Given the description of an element on the screen output the (x, y) to click on. 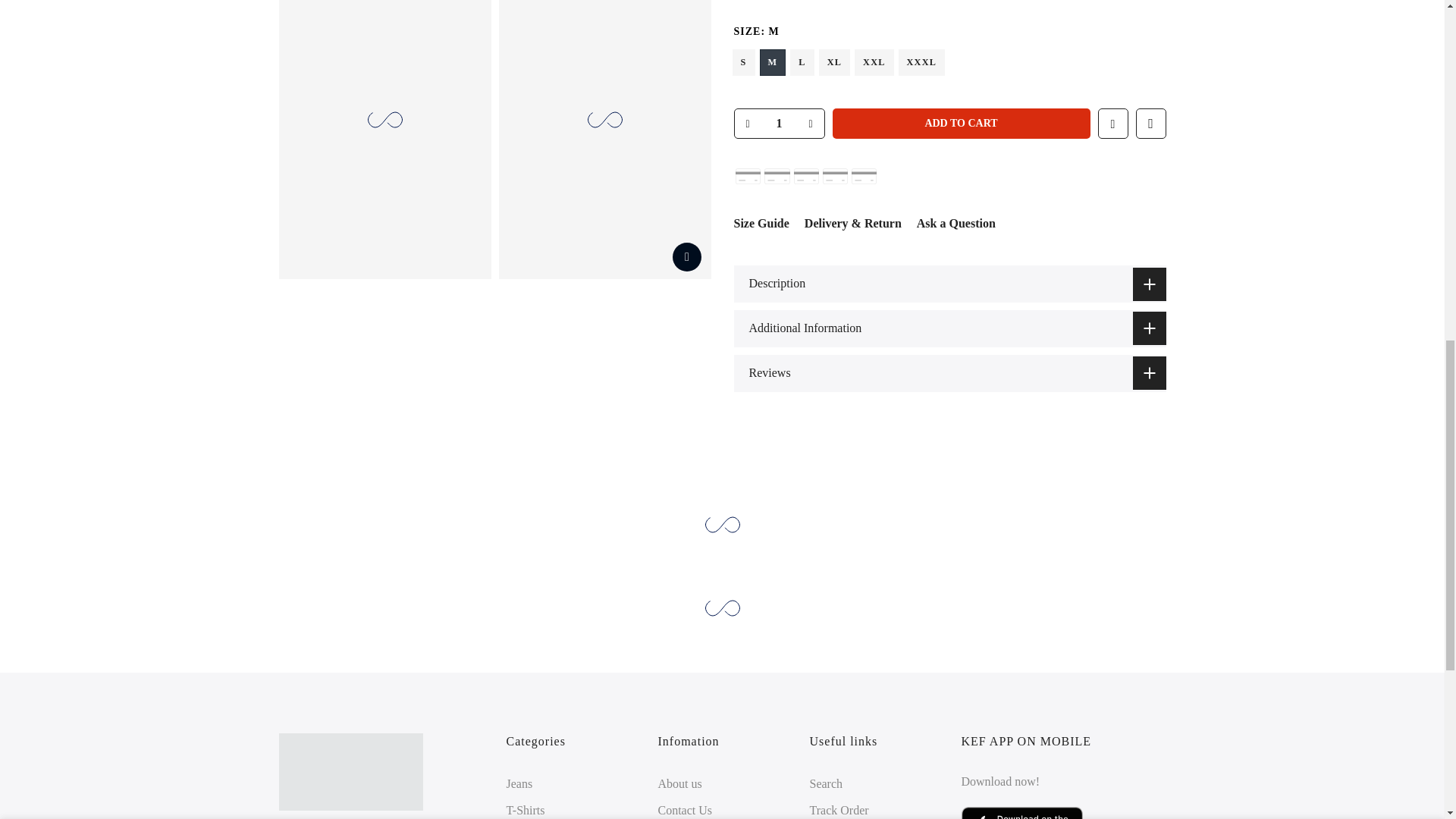
ADD TO CART (961, 123)
1 (1001, 35)
Size Guide (761, 223)
1 (778, 123)
